Given the description of an element on the screen output the (x, y) to click on. 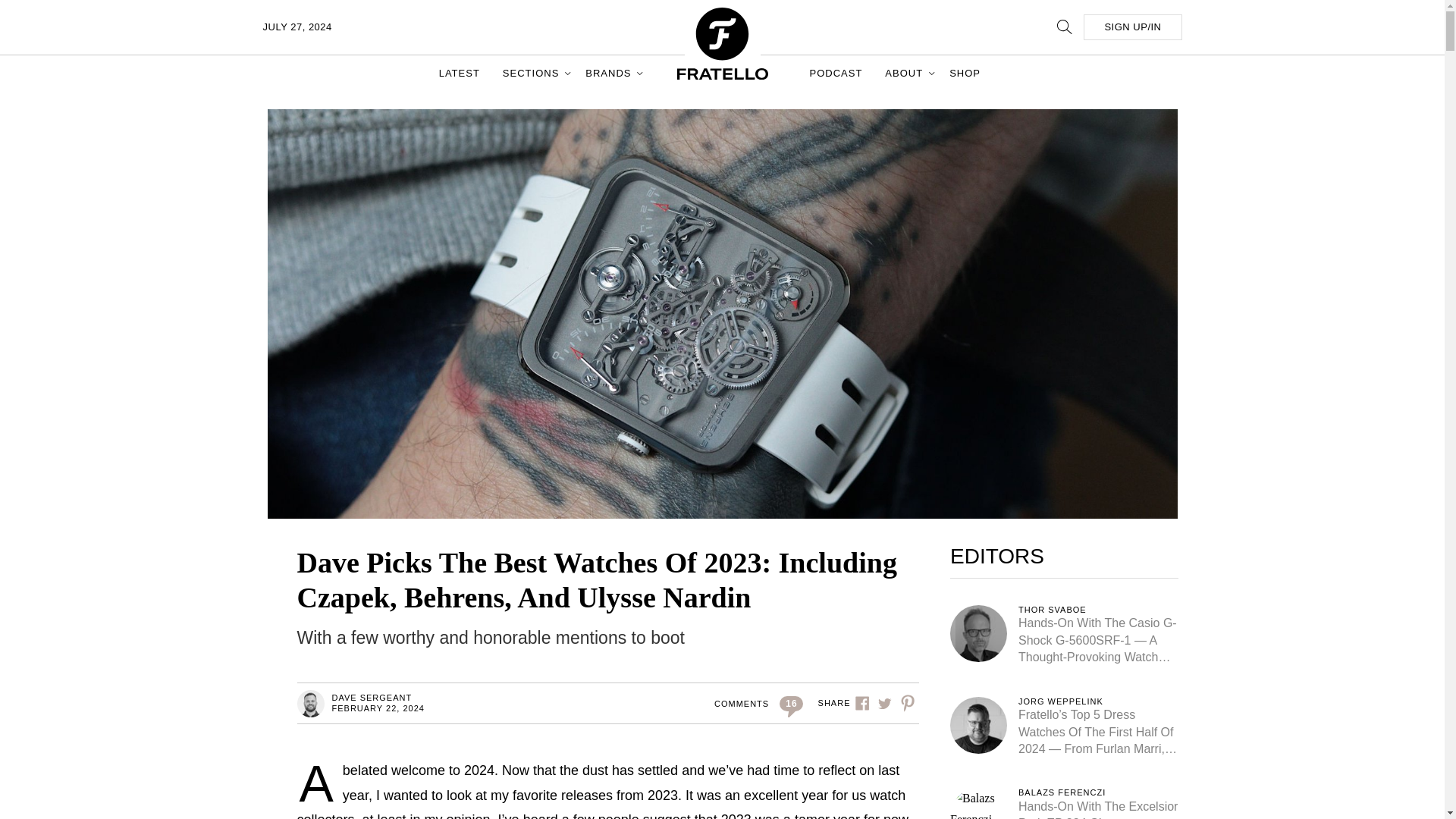
SECTIONS (532, 72)
BRANDS (609, 72)
LATEST (460, 72)
